Given the description of an element on the screen output the (x, y) to click on. 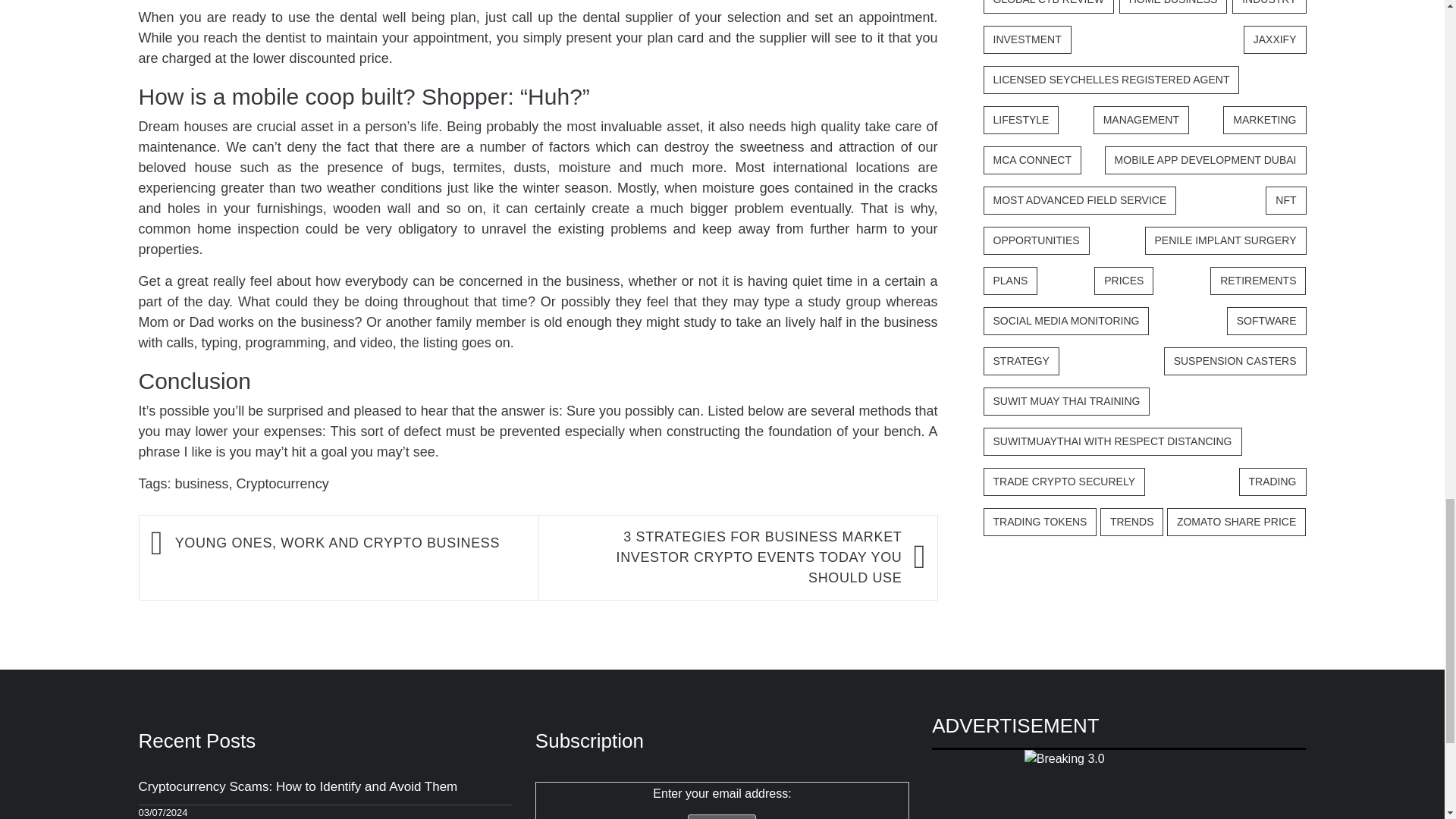
Cryptocurrency (282, 483)
Breaking 3.0 (1119, 784)
YOUNG ONES, WORK AND CRYPTO BUSINESS (348, 543)
business (201, 483)
